Given the description of an element on the screen output the (x, y) to click on. 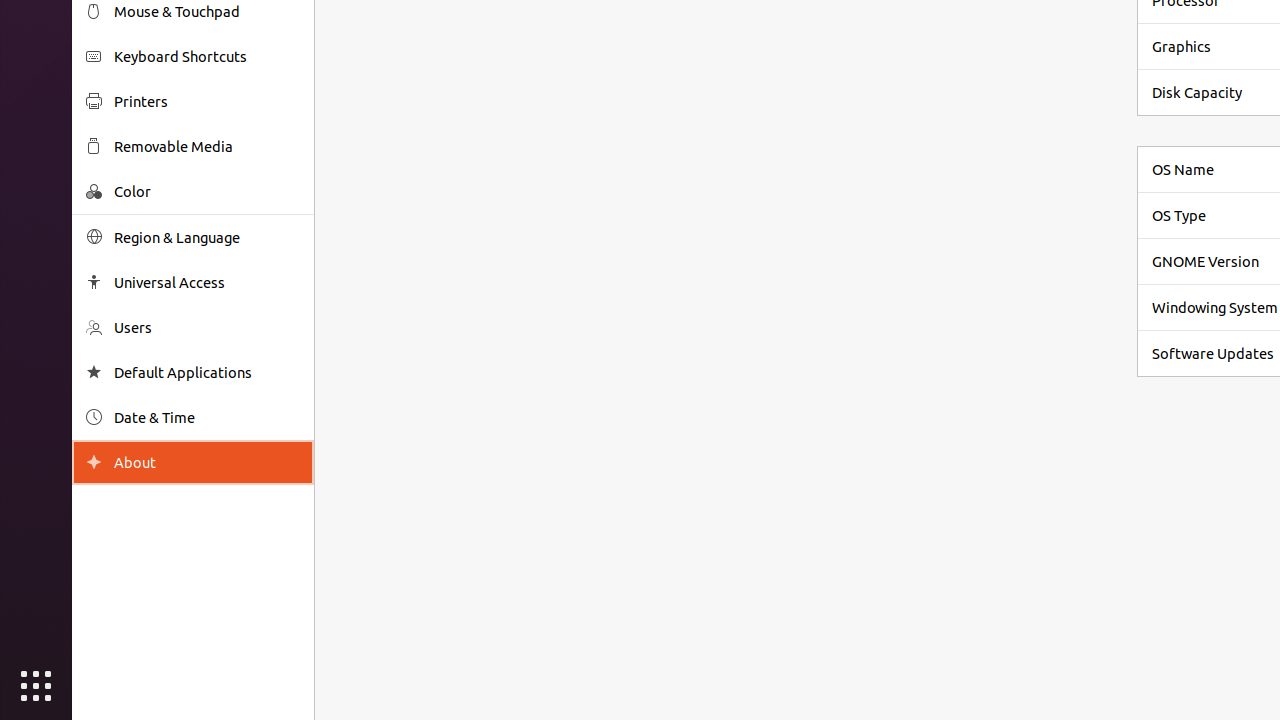
Users Element type: label (207, 327)
Universal Access Element type: label (207, 282)
About Element type: icon (94, 462)
Keyboard Shortcuts Element type: label (207, 56)
